Given the description of an element on the screen output the (x, y) to click on. 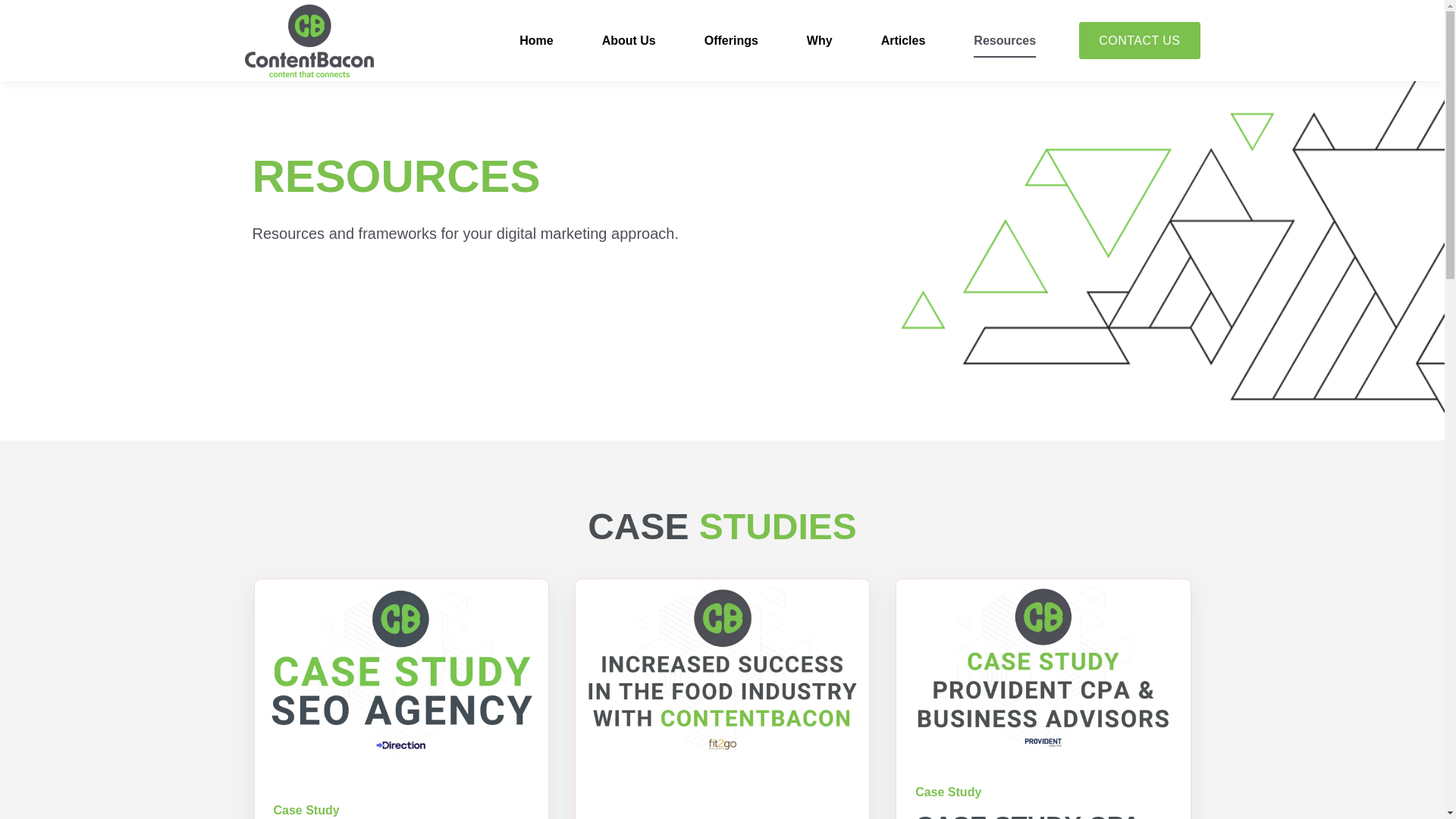
CONTACT US (1138, 40)
Home (536, 40)
About Us (629, 40)
Resources (1004, 40)
Offerings (731, 40)
Articles (903, 40)
